Given the description of an element on the screen output the (x, y) to click on. 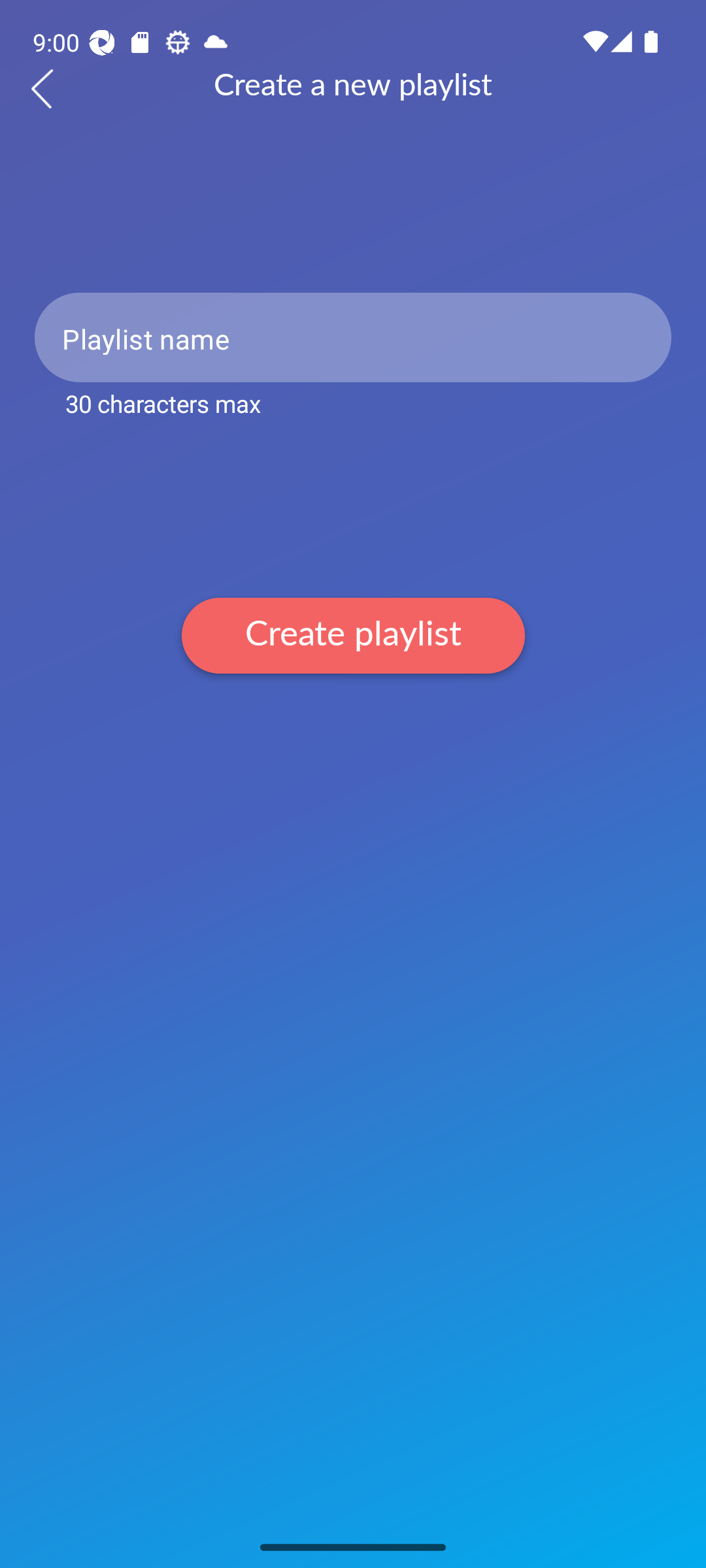
Playlist name (352, 337)
Create playlist (353, 634)
